Given the description of an element on the screen output the (x, y) to click on. 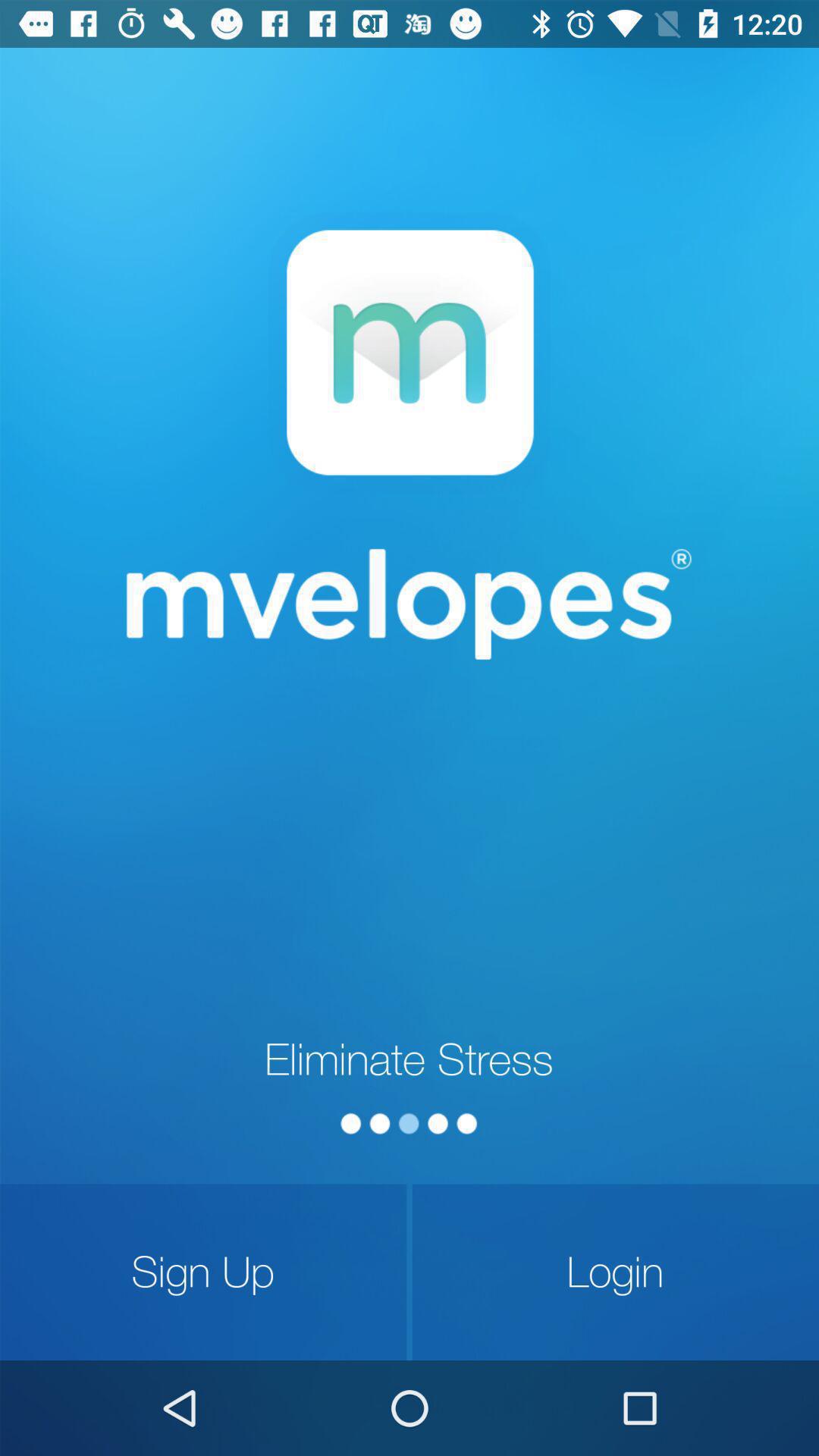
tap login icon (615, 1272)
